Given the description of an element on the screen output the (x, y) to click on. 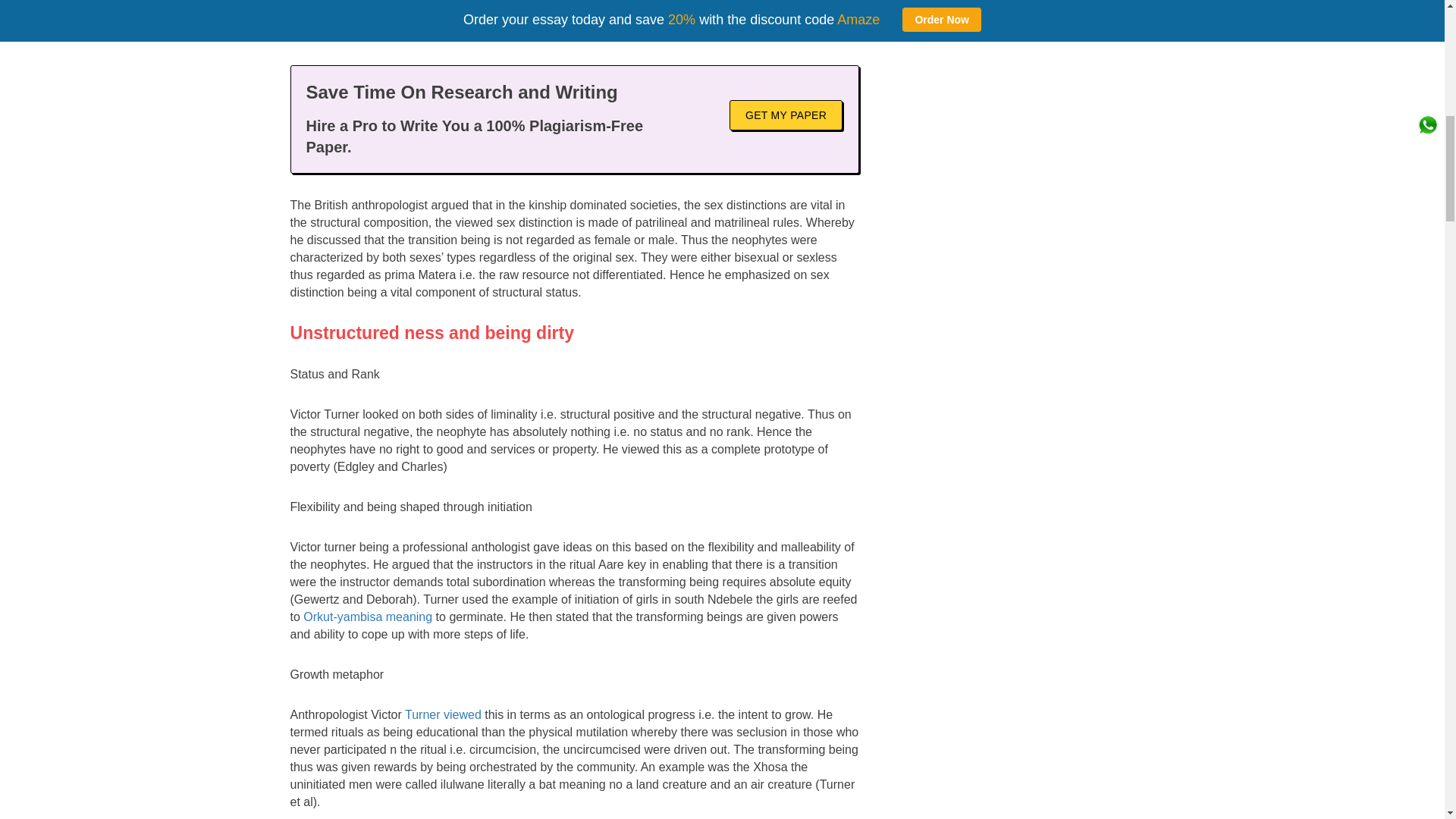
GET MY PAPER (786, 114)
Turner viewed (442, 714)
Orkut-yambisa meaning (367, 616)
